Given the description of an element on the screen output the (x, y) to click on. 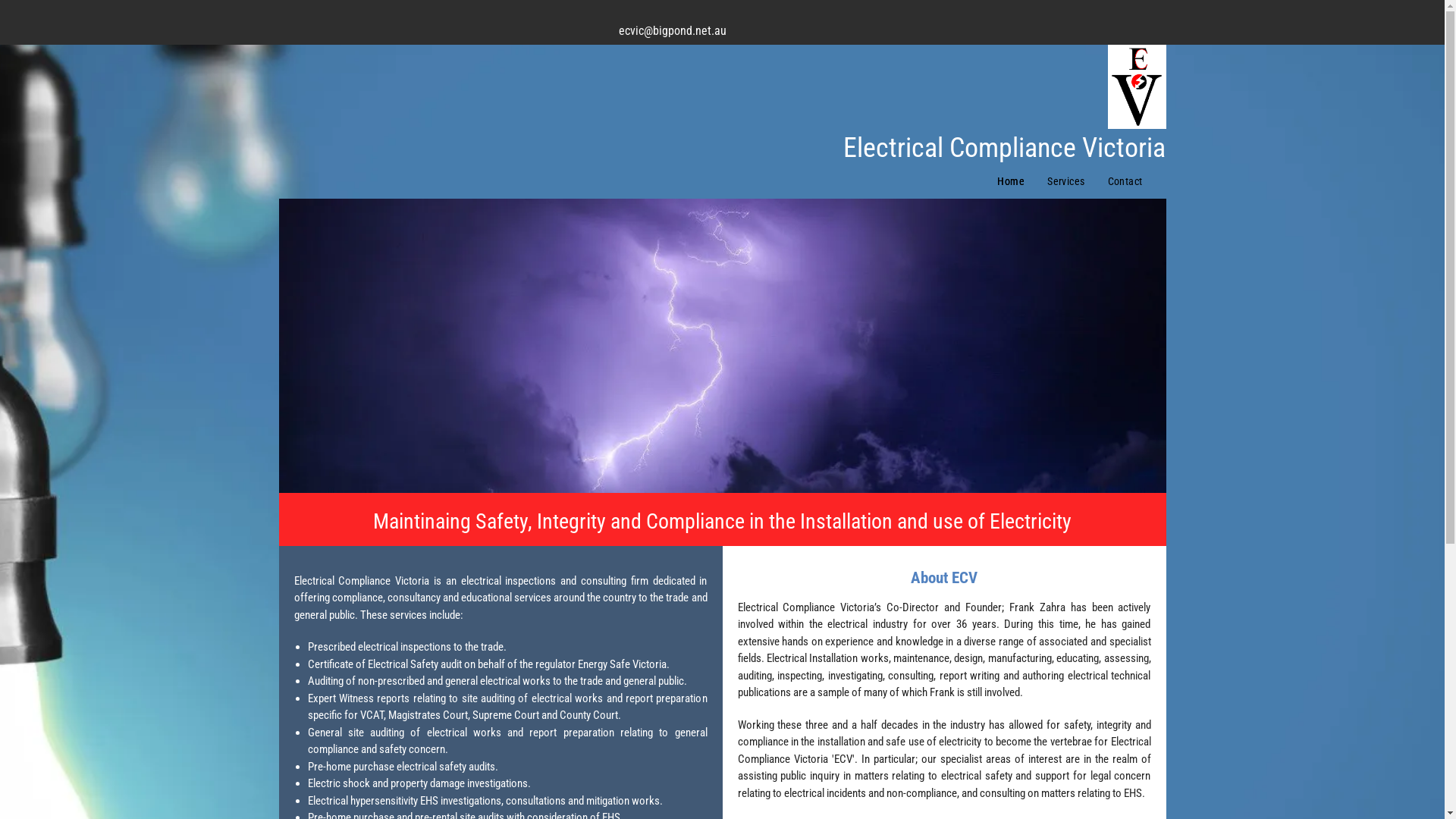
electrical compliance victoria leading electrical compliance Element type: hover (722, 345)
Services Element type: text (1065, 181)
ecvic@bigpond.net.au Element type: text (672, 29)
Home Element type: text (1010, 181)
Contact Element type: text (1125, 181)
